Given the description of an element on the screen output the (x, y) to click on. 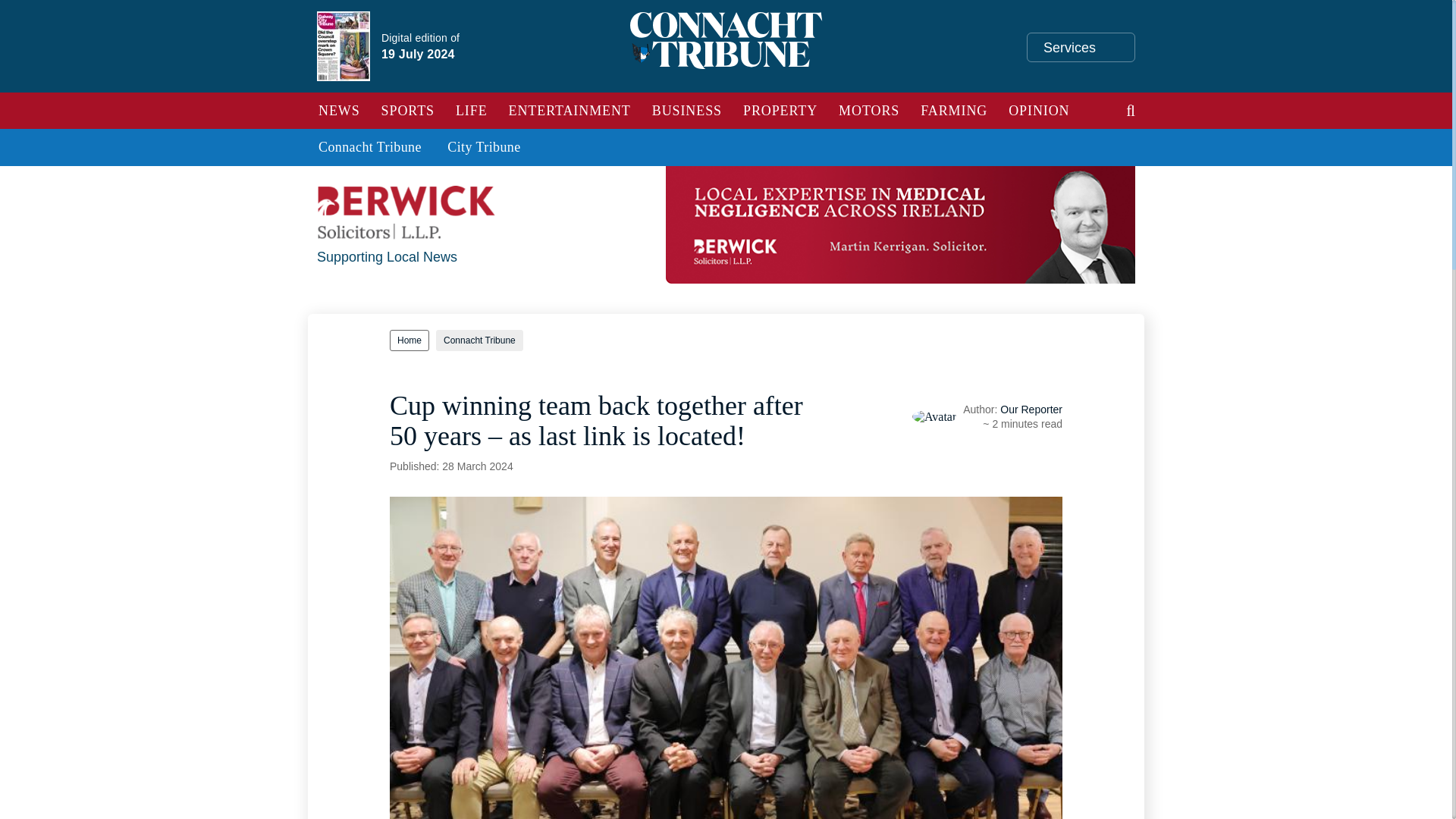
MOTORS (869, 110)
City Tribune (483, 146)
LIFE (471, 110)
OPINION (1038, 110)
NEWS (339, 110)
FARMING (420, 5)
PROPERTY (953, 110)
Connacht Tribune (780, 110)
SPORTS (369, 146)
BUSINESS (408, 110)
ENTERTAINMENT (687, 110)
